Given the description of an element on the screen output the (x, y) to click on. 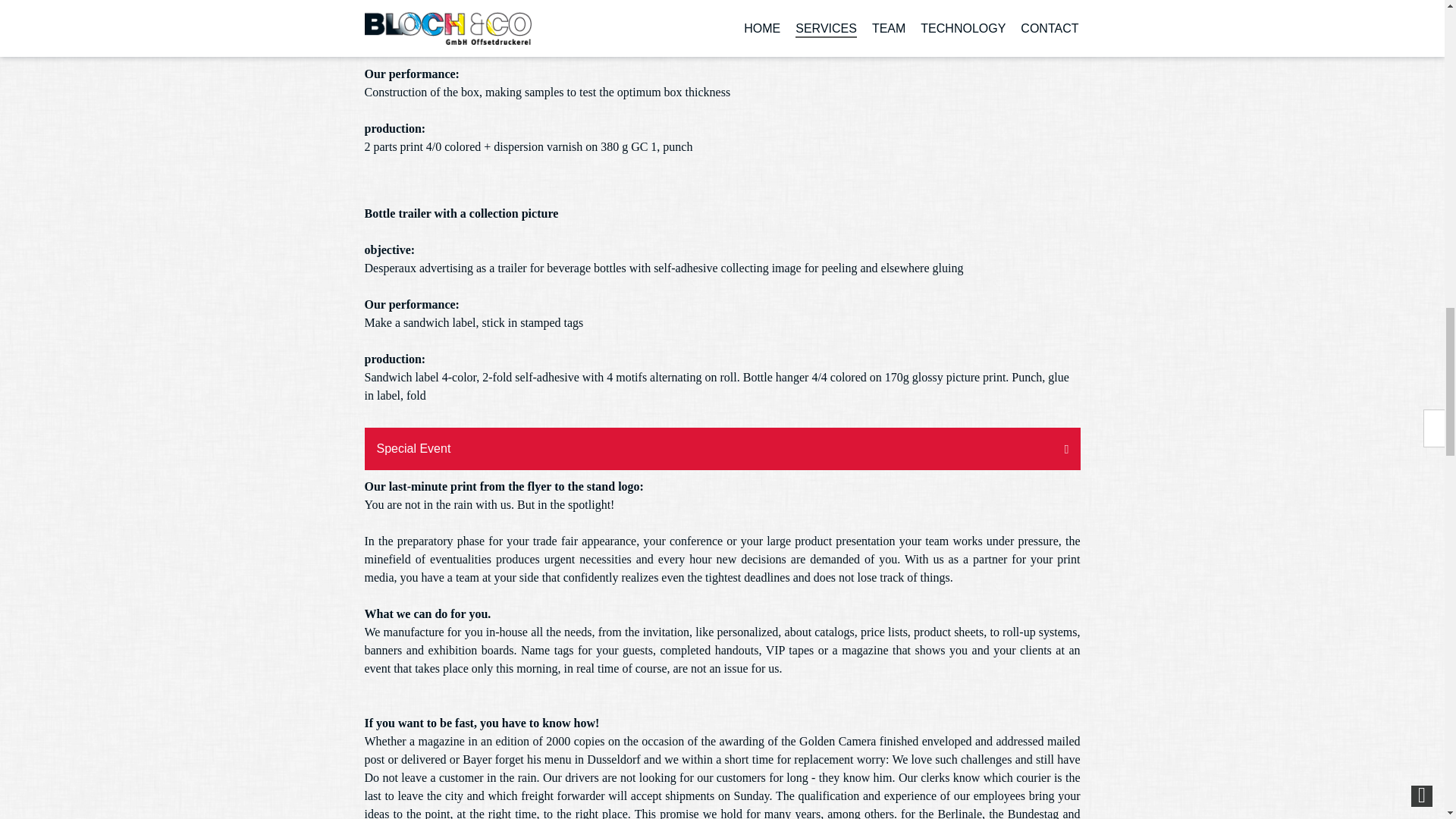
Special Event (722, 448)
